Given the description of an element on the screen output the (x, y) to click on. 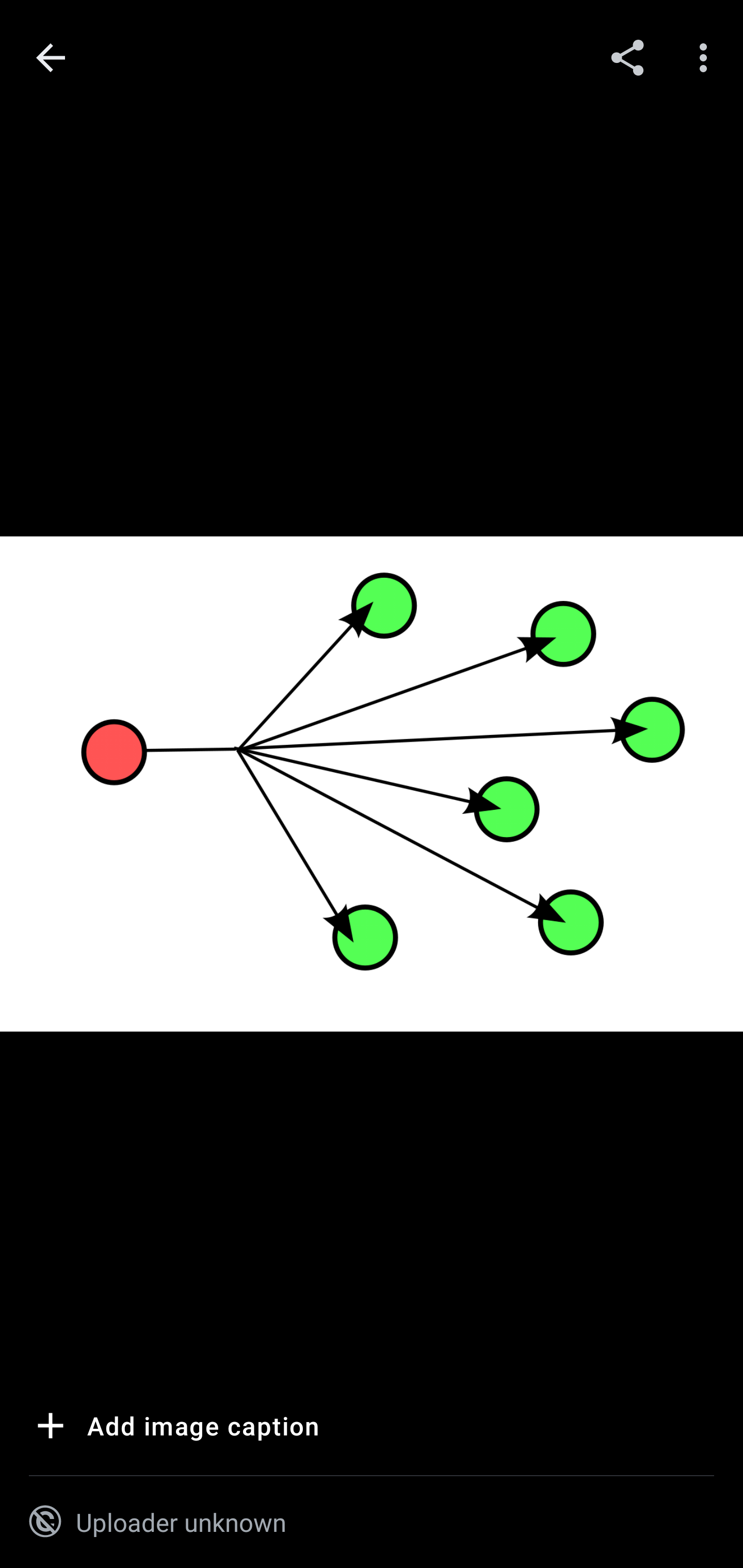
Navigate up (50, 57)
Share (626, 57)
More options (706, 57)
Add image caption (174, 1428)
Public domain (44, 1521)
